Given the description of an element on the screen output the (x, y) to click on. 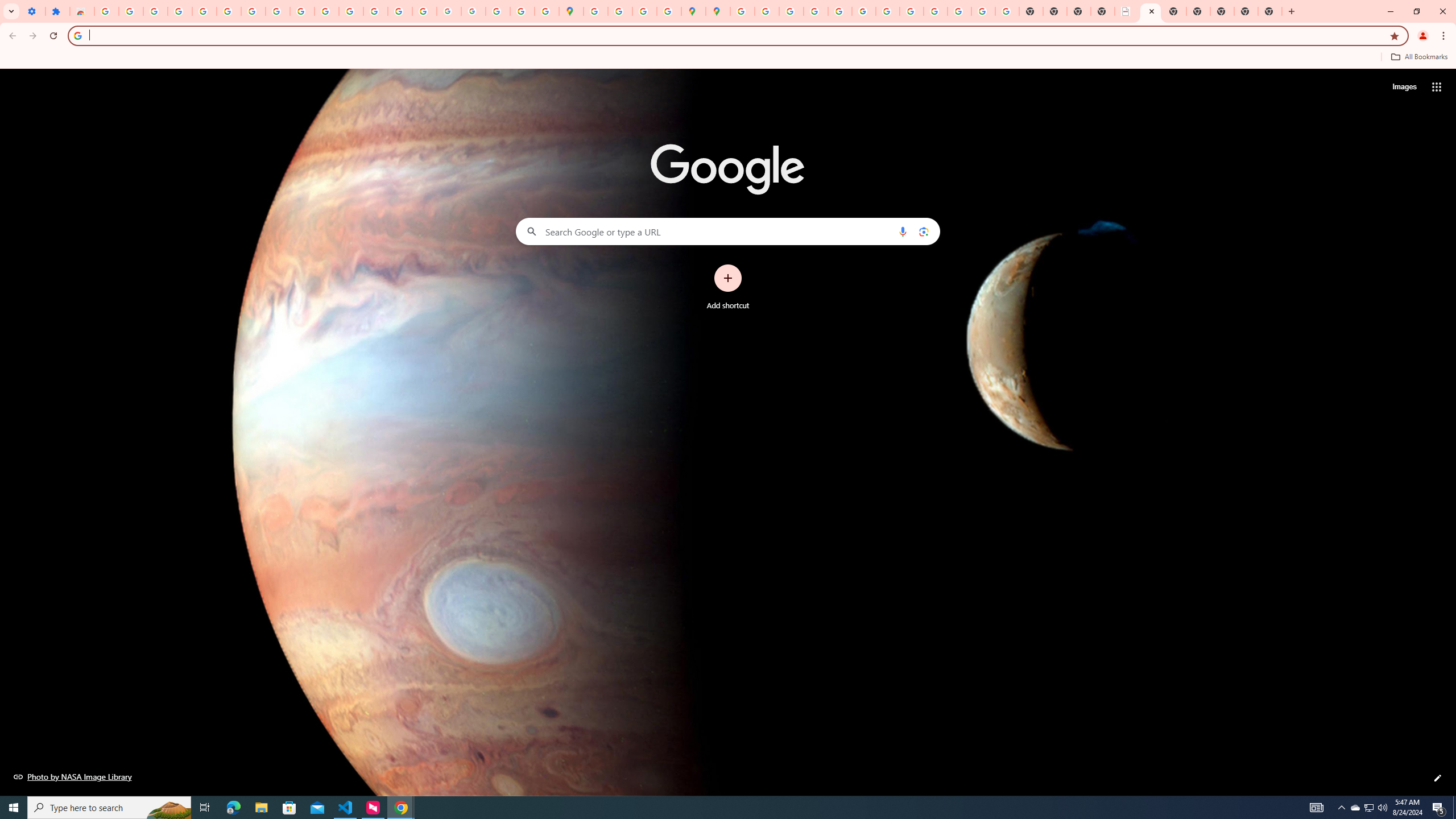
https://scholar.google.com/ (350, 11)
Customize this page (1437, 778)
YouTube (887, 11)
All Bookmarks (1418, 56)
New Tab (1222, 11)
Sign in - Google Accounts (105, 11)
Sign in - Google Accounts (742, 11)
